Given the description of an element on the screen output the (x, y) to click on. 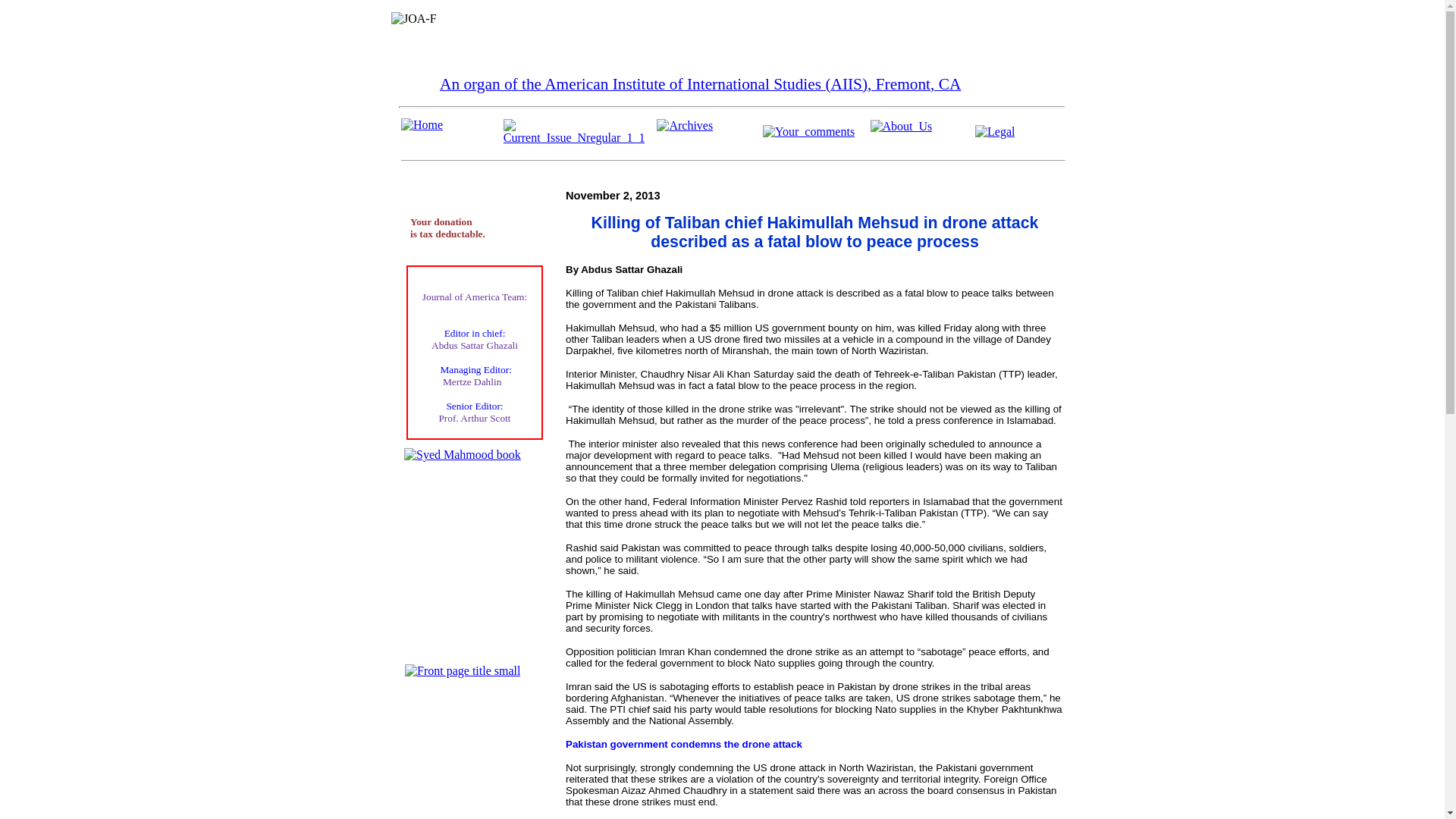
Front page title small (461, 671)
Home (421, 124)
Archives (684, 125)
JOA-F (413, 18)
Syed Mahmood book (462, 454)
Legal (994, 131)
